Given the description of an element on the screen output the (x, y) to click on. 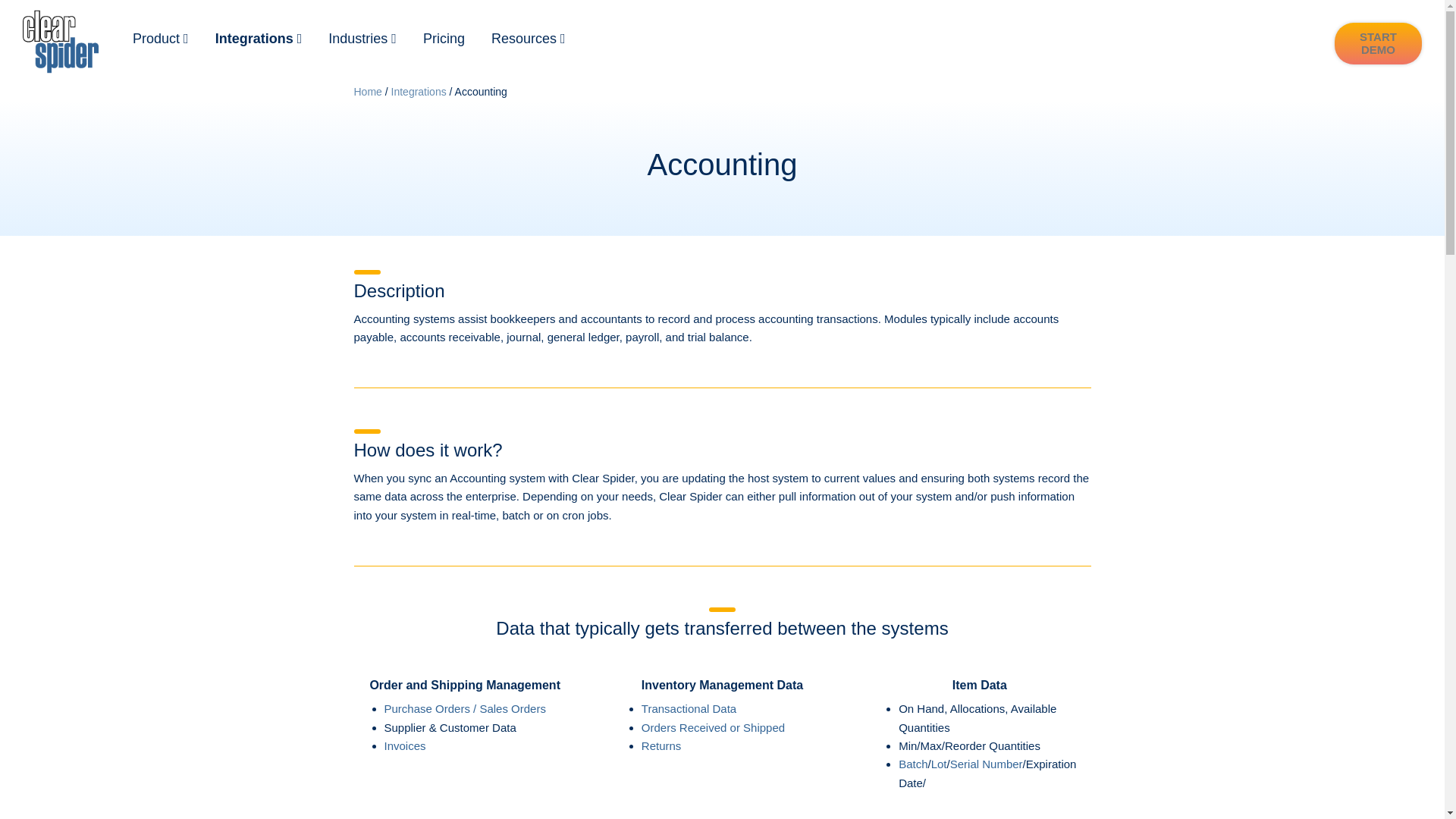
Product (160, 38)
START DEMO (1378, 43)
